Given the description of an element on the screen output the (x, y) to click on. 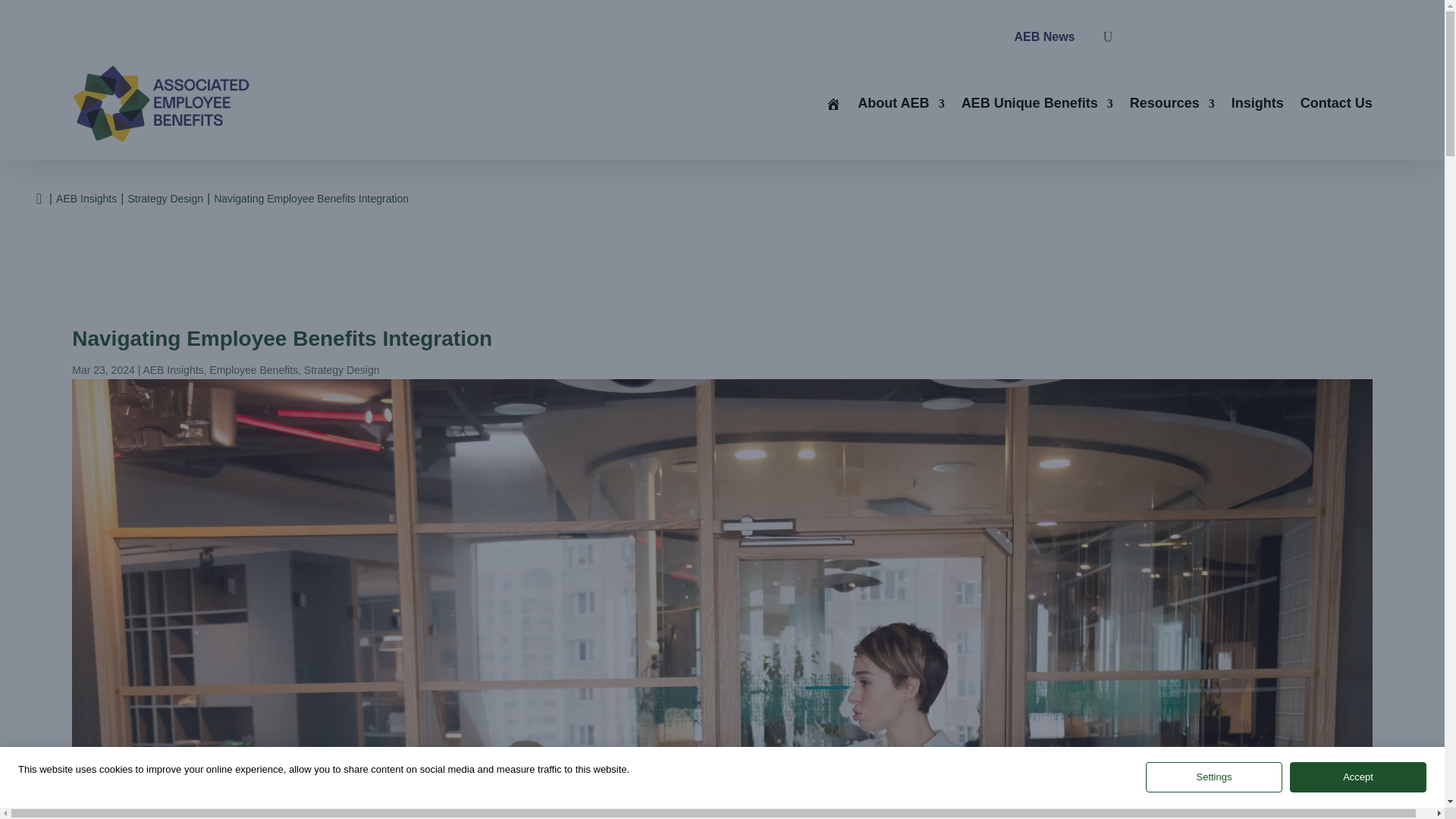
AEB News (1043, 36)
Resources (1171, 103)
AEB Unique Benefits (1036, 103)
About AEB (900, 103)
